Given the description of an element on the screen output the (x, y) to click on. 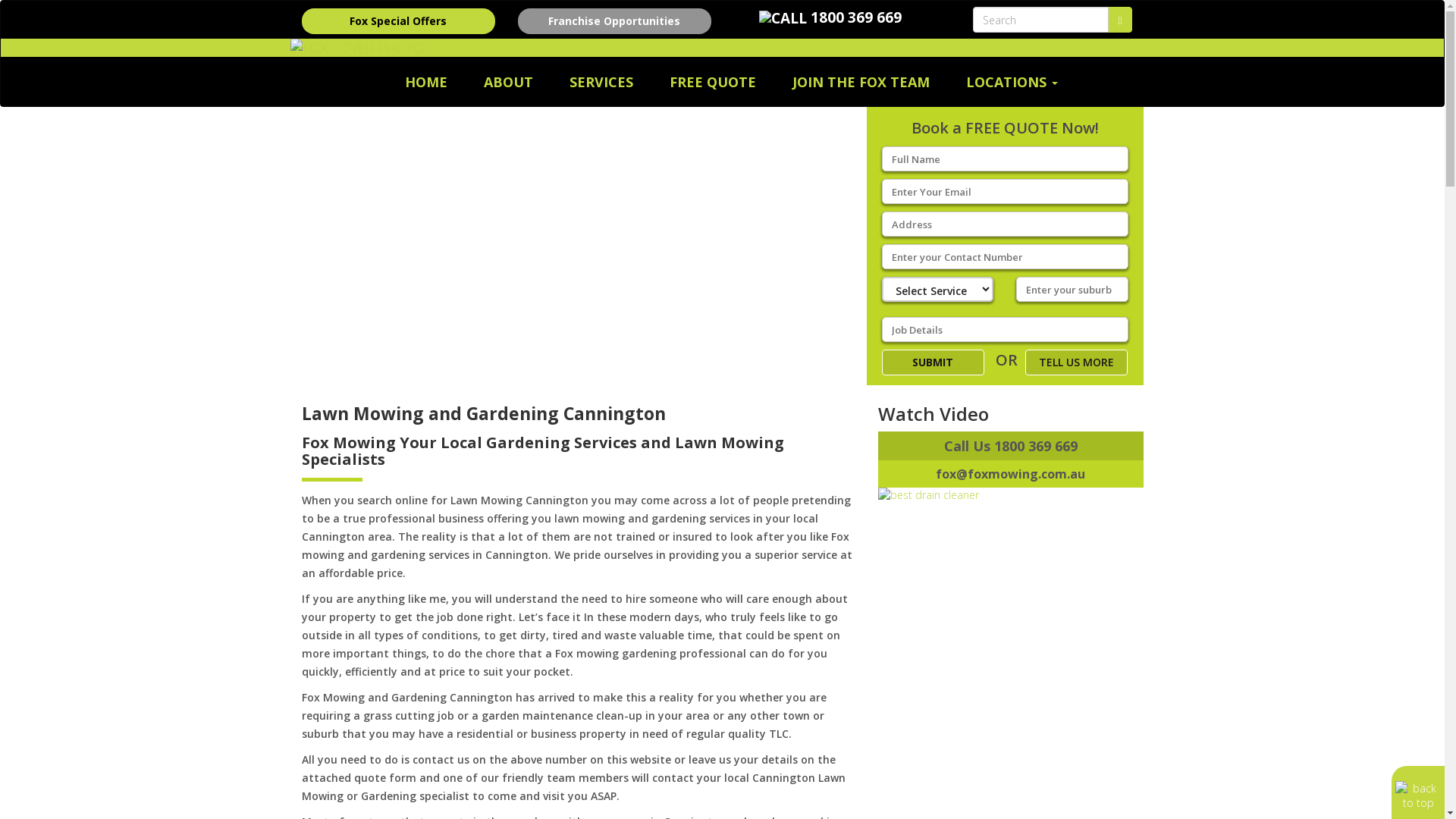
Franchise Opportunities Element type: text (613, 21)
FREE QUOTE Element type: text (712, 81)
SUBMIT Element type: text (932, 362)
1800 369 669 Element type: text (855, 17)
TELL US MORE Element type: text (1076, 362)
HOME Element type: text (425, 81)
SERVICES Element type: text (601, 81)
LOCATIONS Element type: text (1011, 81)
Fox Special Offers Element type: text (398, 21)
ABOUT Element type: text (508, 81)
JOIN THE FOX TEAM Element type: text (860, 81)
